Given the description of an element on the screen output the (x, y) to click on. 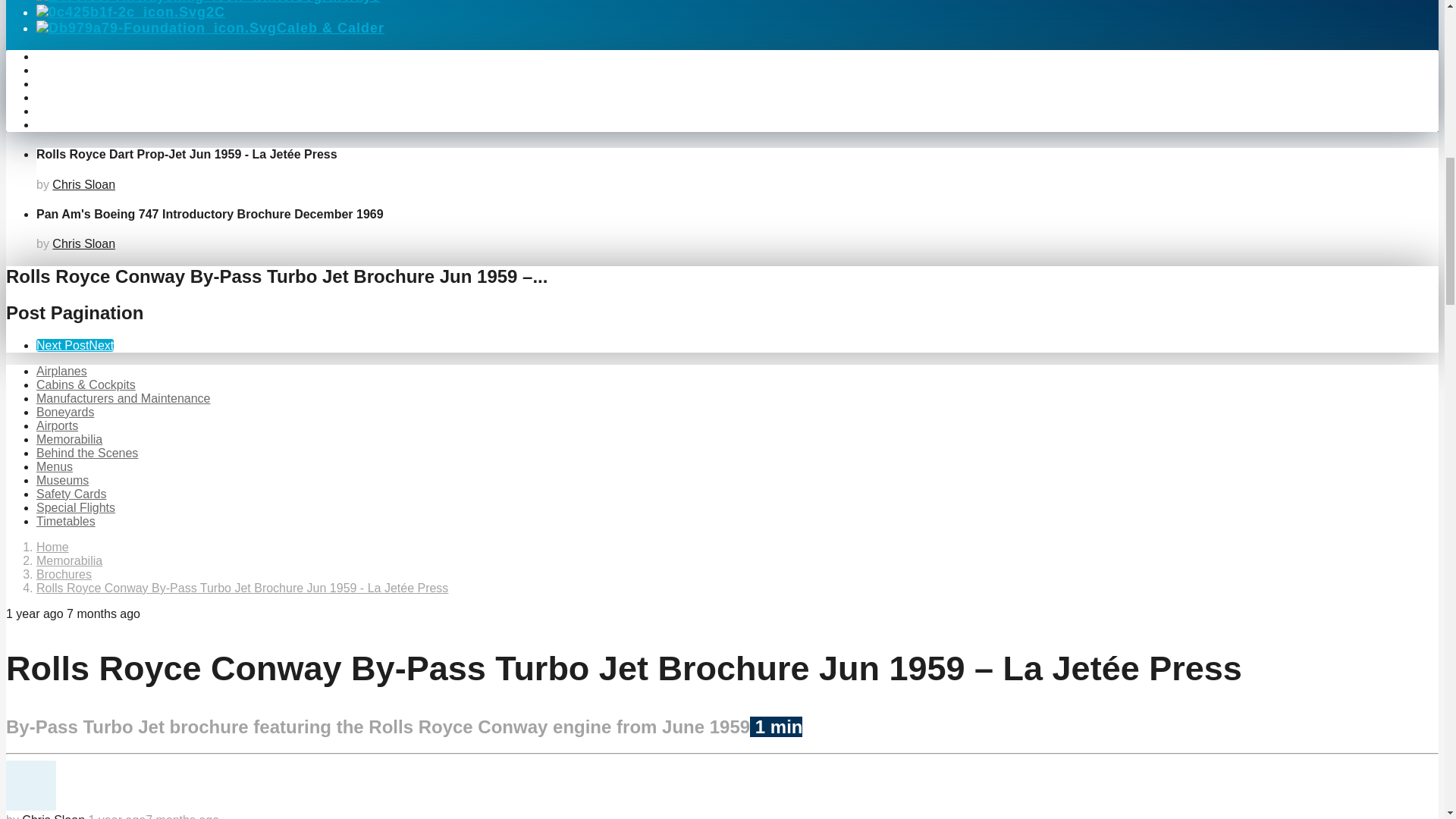
Airplanes (61, 370)
